Given the description of an element on the screen output the (x, y) to click on. 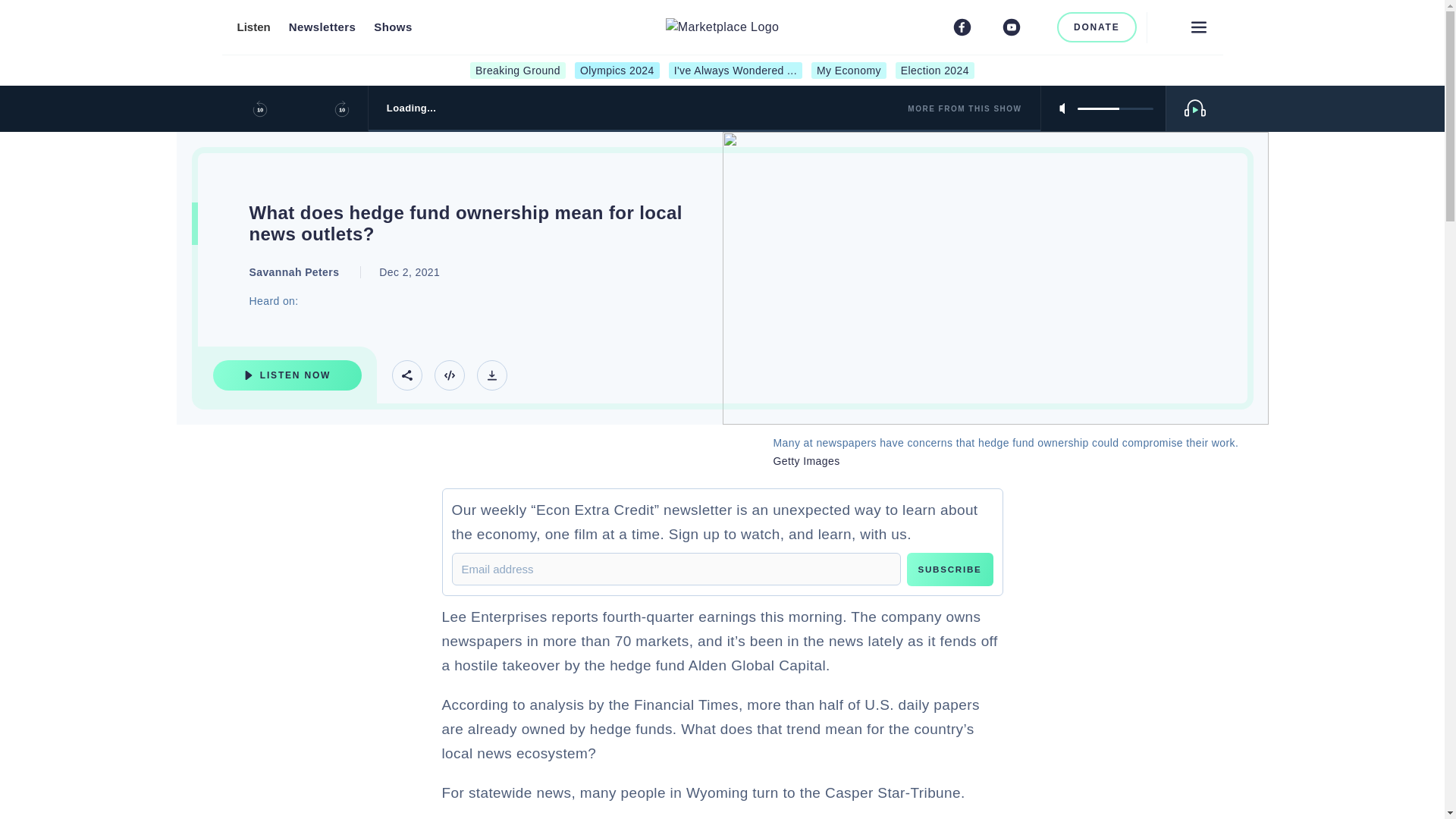
volume (1115, 108)
Listen (252, 26)
Facebook (962, 27)
Youtube (1011, 27)
DONATE (1097, 27)
Instagram (985, 27)
Newsletters (322, 27)
TikTok (1035, 27)
Download Track (491, 374)
Listen Now (286, 374)
